Given the description of an element on the screen output the (x, y) to click on. 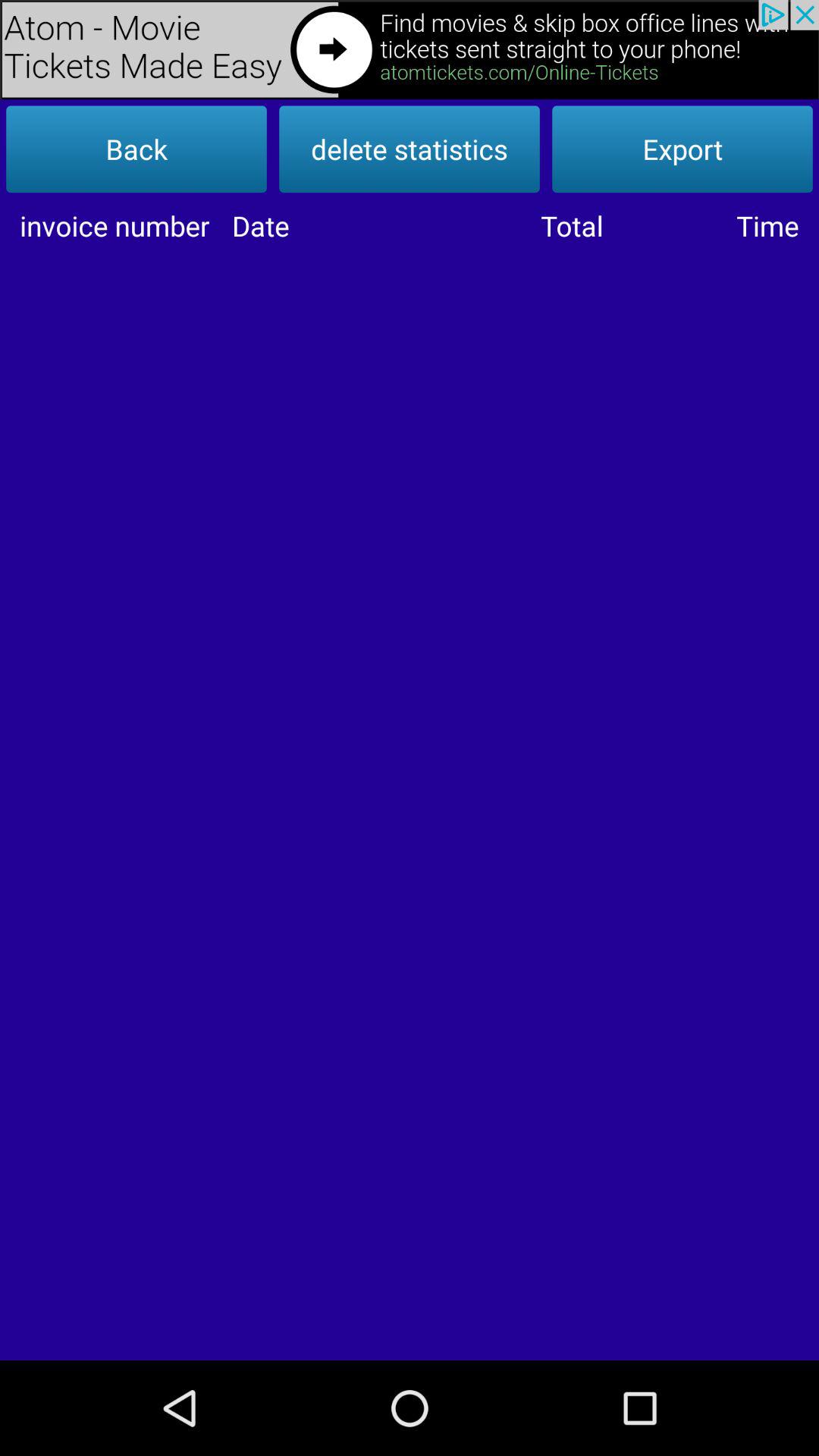
open advertisement (409, 49)
